Given the description of an element on the screen output the (x, y) to click on. 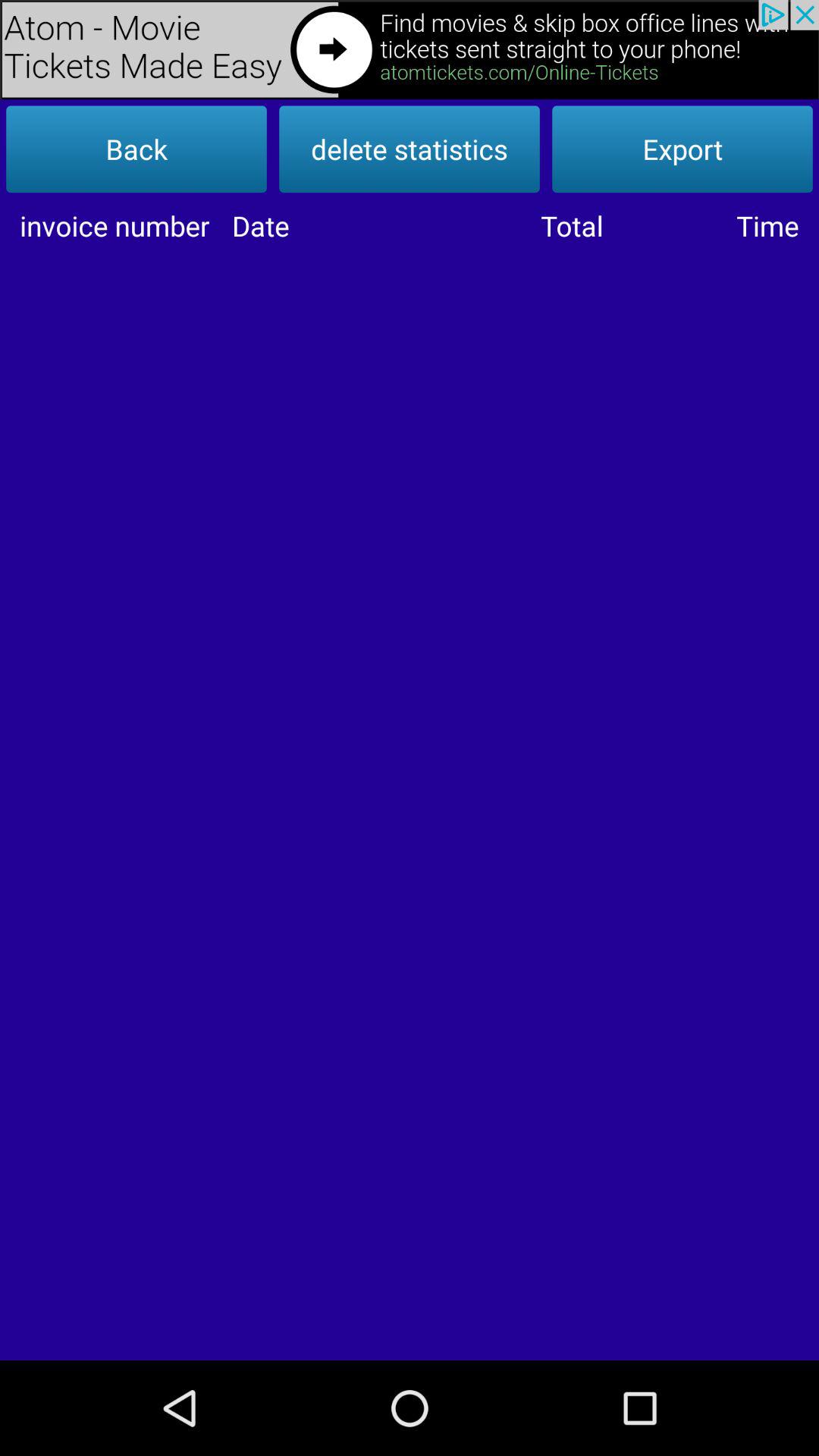
open advertisement (409, 49)
